Given the description of an element on the screen output the (x, y) to click on. 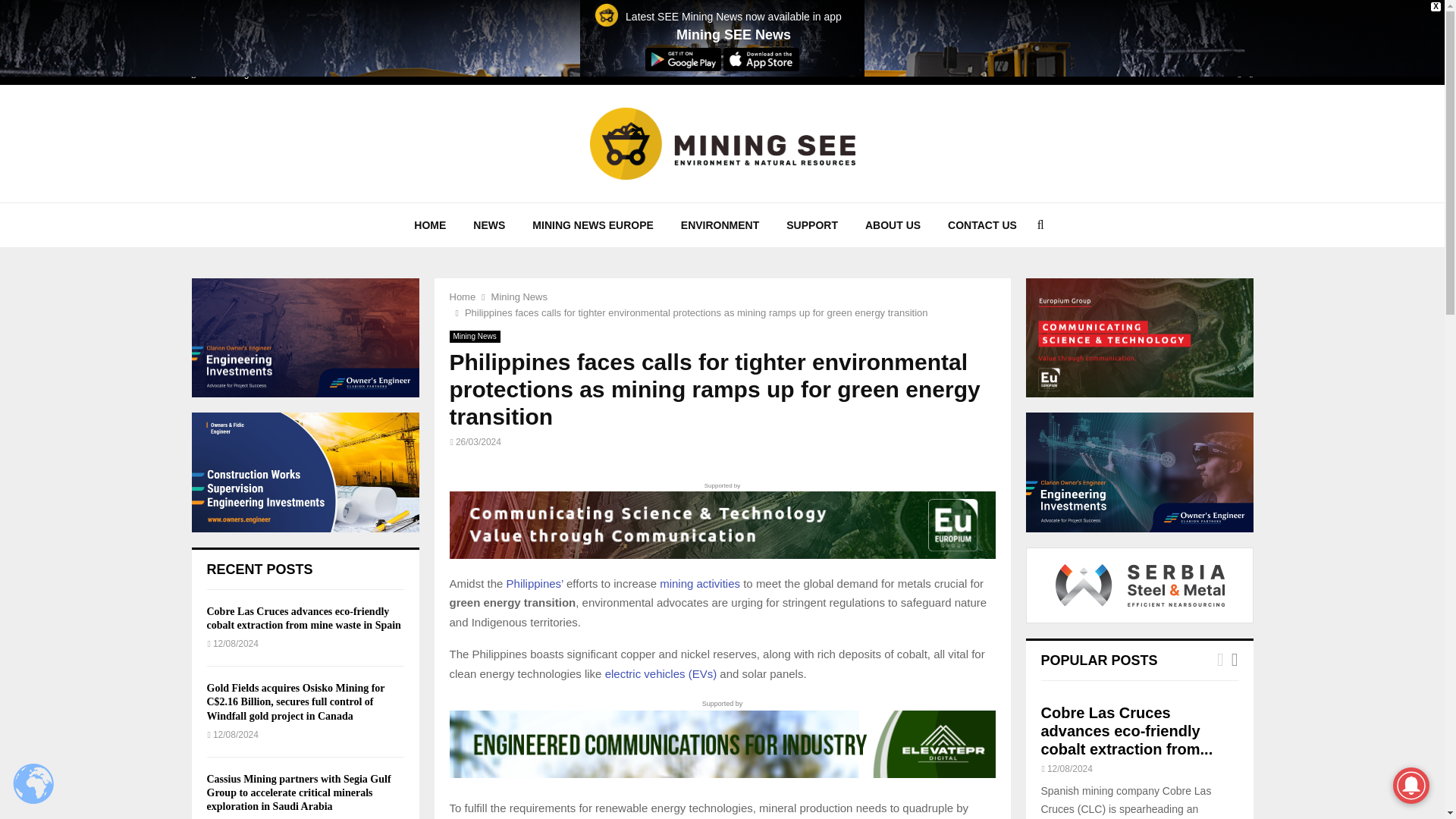
Supported by (721, 519)
mining activities (699, 583)
ENVIRONMENT (719, 225)
Mining News (519, 296)
SUPPORT (812, 225)
HOME (430, 225)
ABOUT US (892, 225)
NEWS (489, 225)
